Given the description of an element on the screen output the (x, y) to click on. 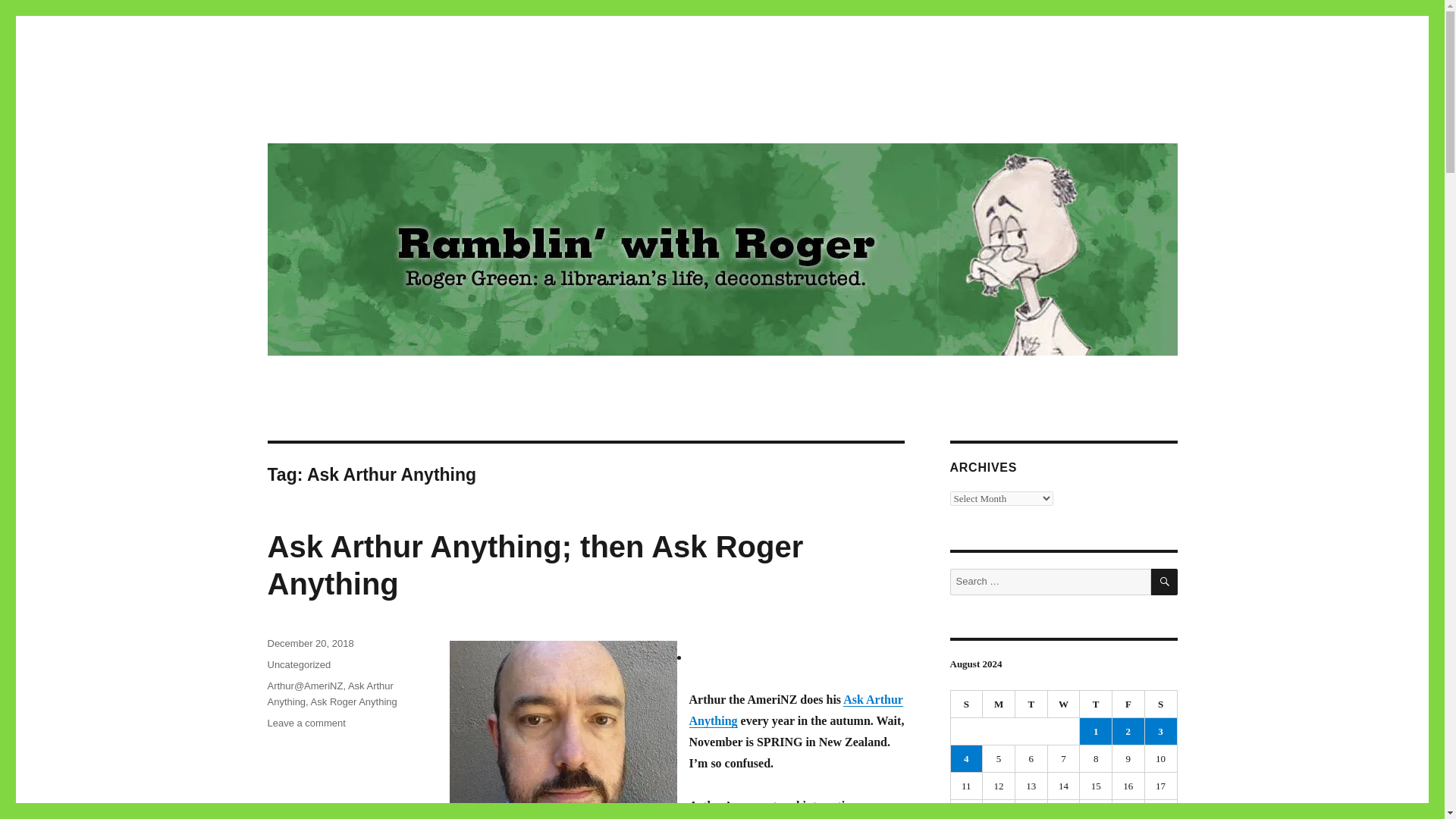
15 (998, 786)
22 (998, 809)
Tuesday (1031, 704)
17 (1064, 786)
16 (1030, 786)
18 (1096, 786)
Thursday (1096, 704)
23 (1030, 809)
20 (1160, 786)
